Given the description of an element on the screen output the (x, y) to click on. 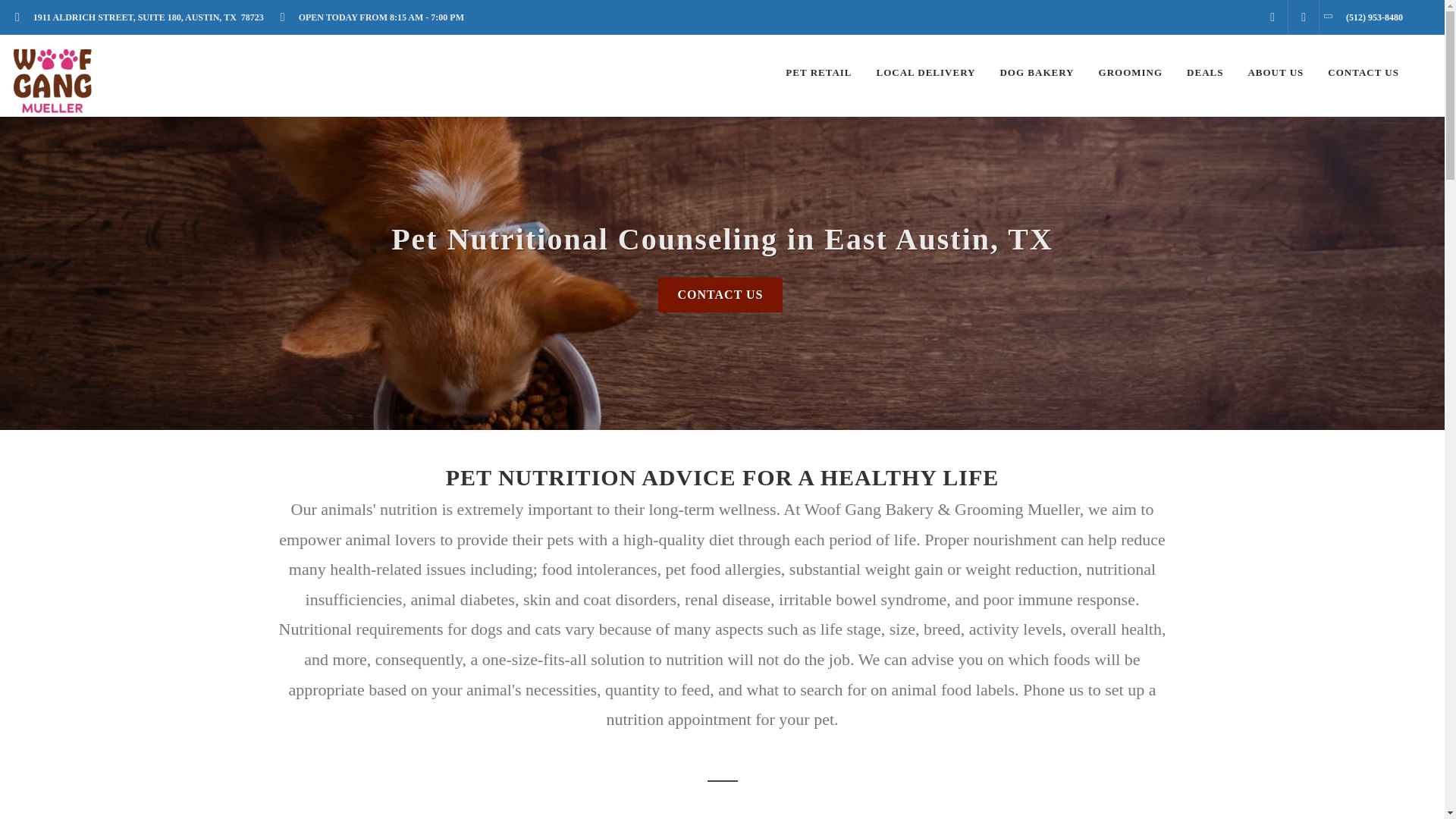
PET RETAIL (818, 72)
ABOUT US (1275, 72)
GROOMING (1130, 72)
LOCAL DELIVERY (925, 72)
1911 ALDRICH STREET, SUITE 180, AUSTIN, TX  78723 (143, 16)
CONTACT US (1363, 72)
OPEN TODAY FROM 8:15 AM - 7:00 PM (376, 16)
CONTACT US (720, 294)
DOG BAKERY (1036, 72)
